Given the description of an element on the screen output the (x, y) to click on. 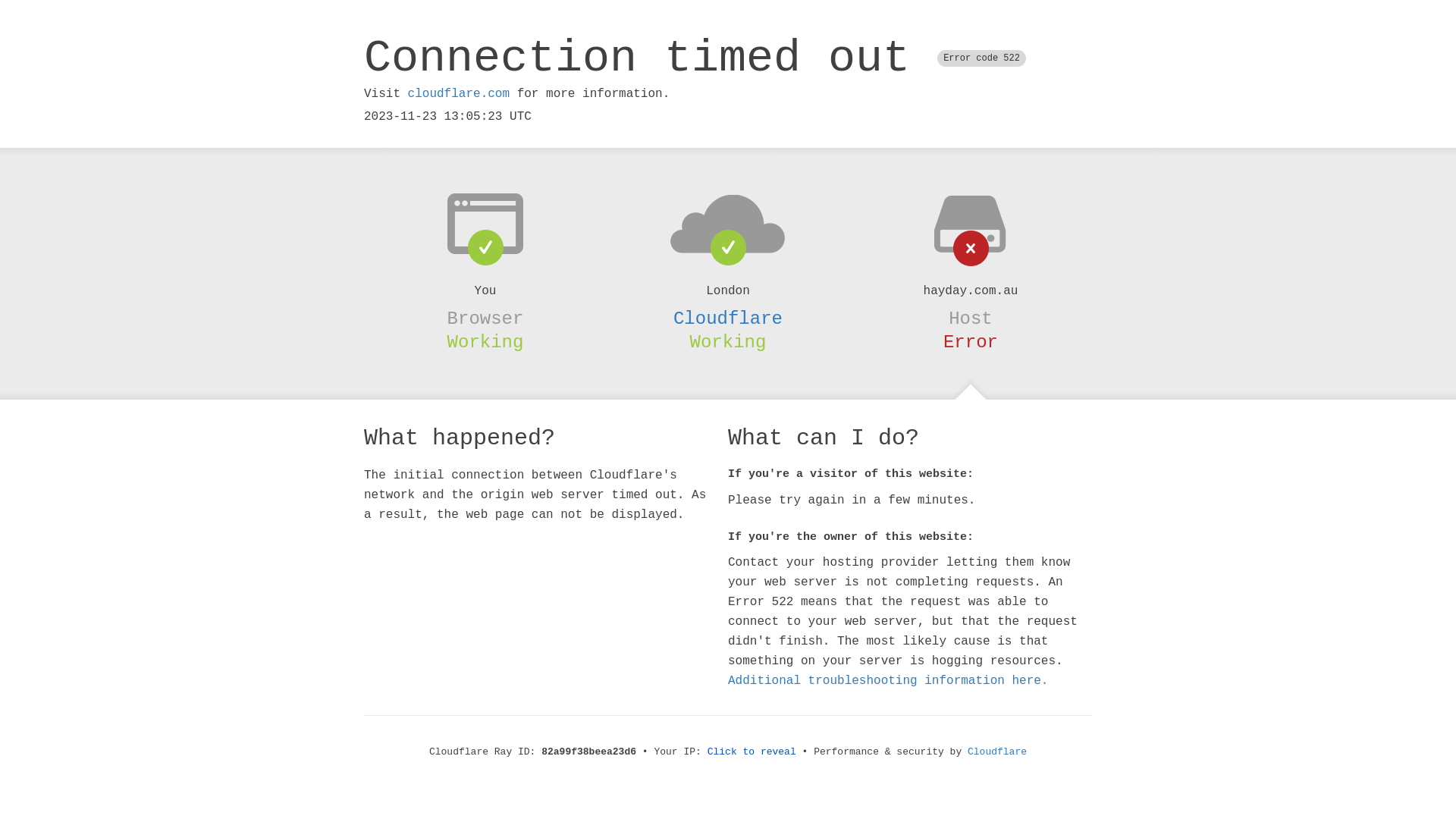
Additional troubleshooting information here. Element type: text (888, 680)
Cloudflare Element type: text (727, 318)
cloudflare.com Element type: text (458, 93)
Cloudflare Element type: text (996, 751)
Click to reveal Element type: text (751, 751)
